Given the description of an element on the screen output the (x, y) to click on. 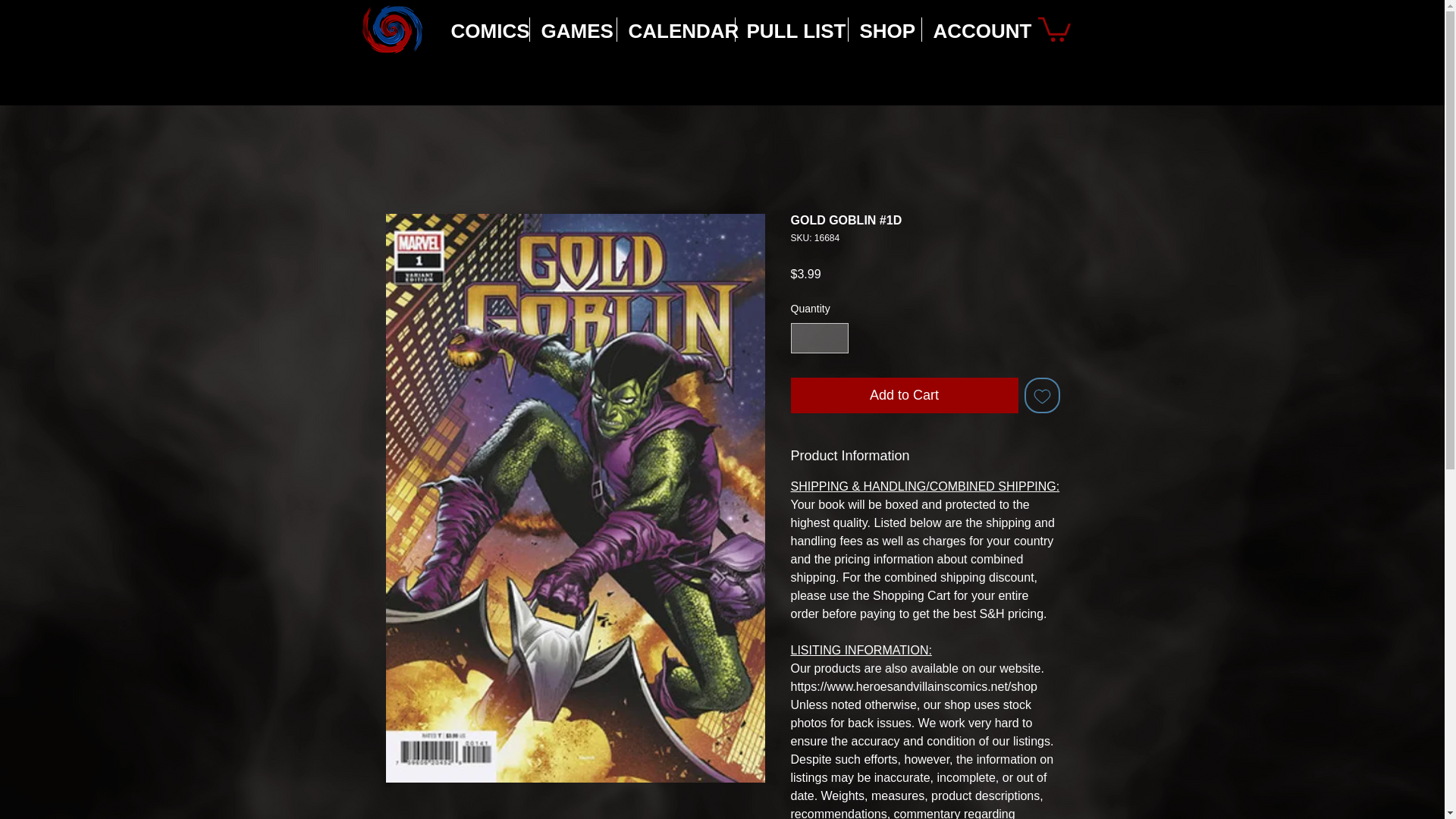
1 (818, 337)
PULL LIST (791, 29)
GAMES (572, 29)
COMICS (484, 29)
CALENDAR (676, 29)
SHOP (883, 29)
Add to Cart (903, 395)
ACCOUNT (974, 29)
